Given the description of an element on the screen output the (x, y) to click on. 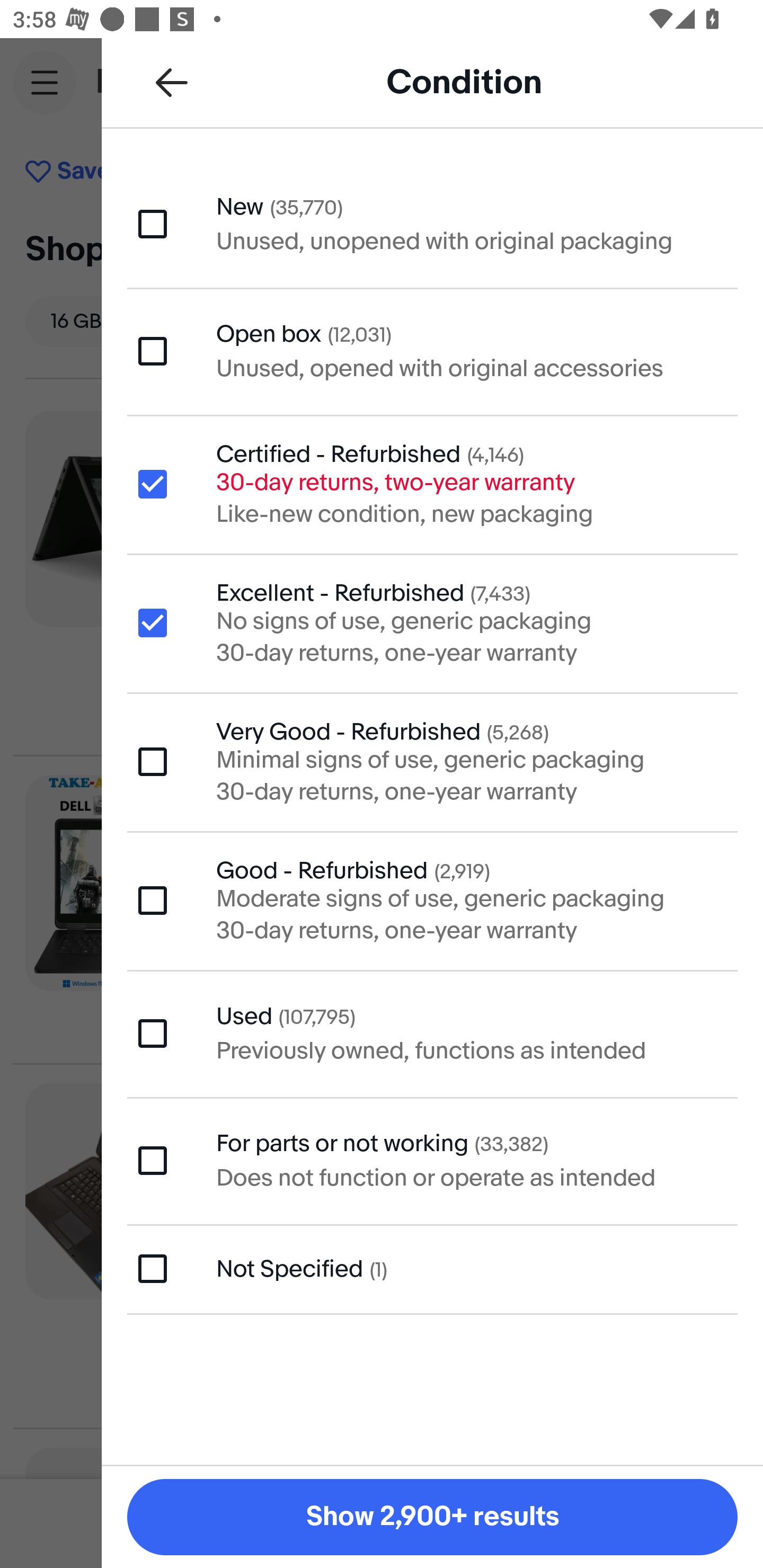
Back to all refinements (171, 81)
Not Specified (1) (432, 1268)
Show 2,900+ results (432, 1516)
